Given the description of an element on the screen output the (x, y) to click on. 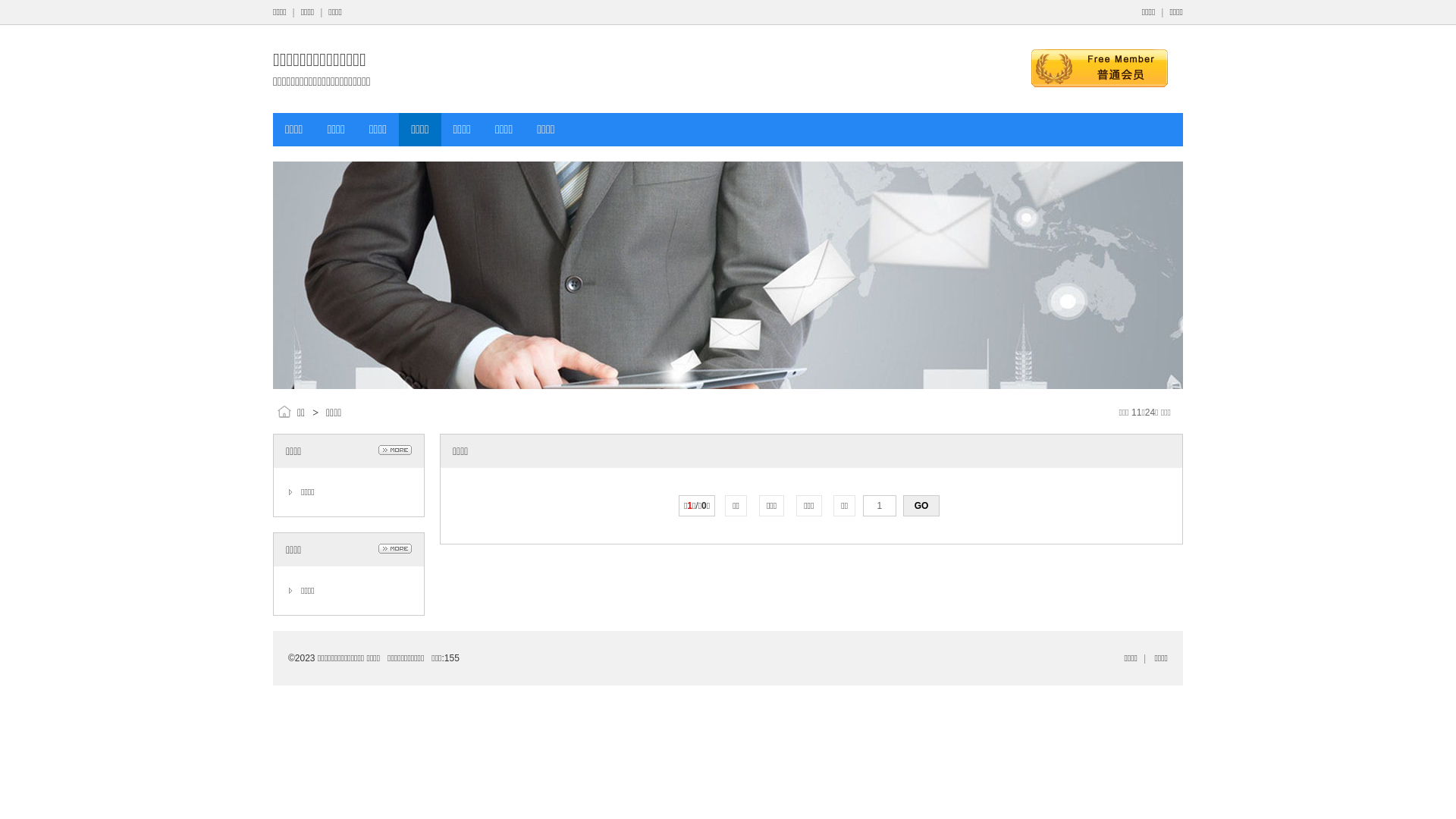
GO Element type: text (921, 505)
